Given the description of an element on the screen output the (x, y) to click on. 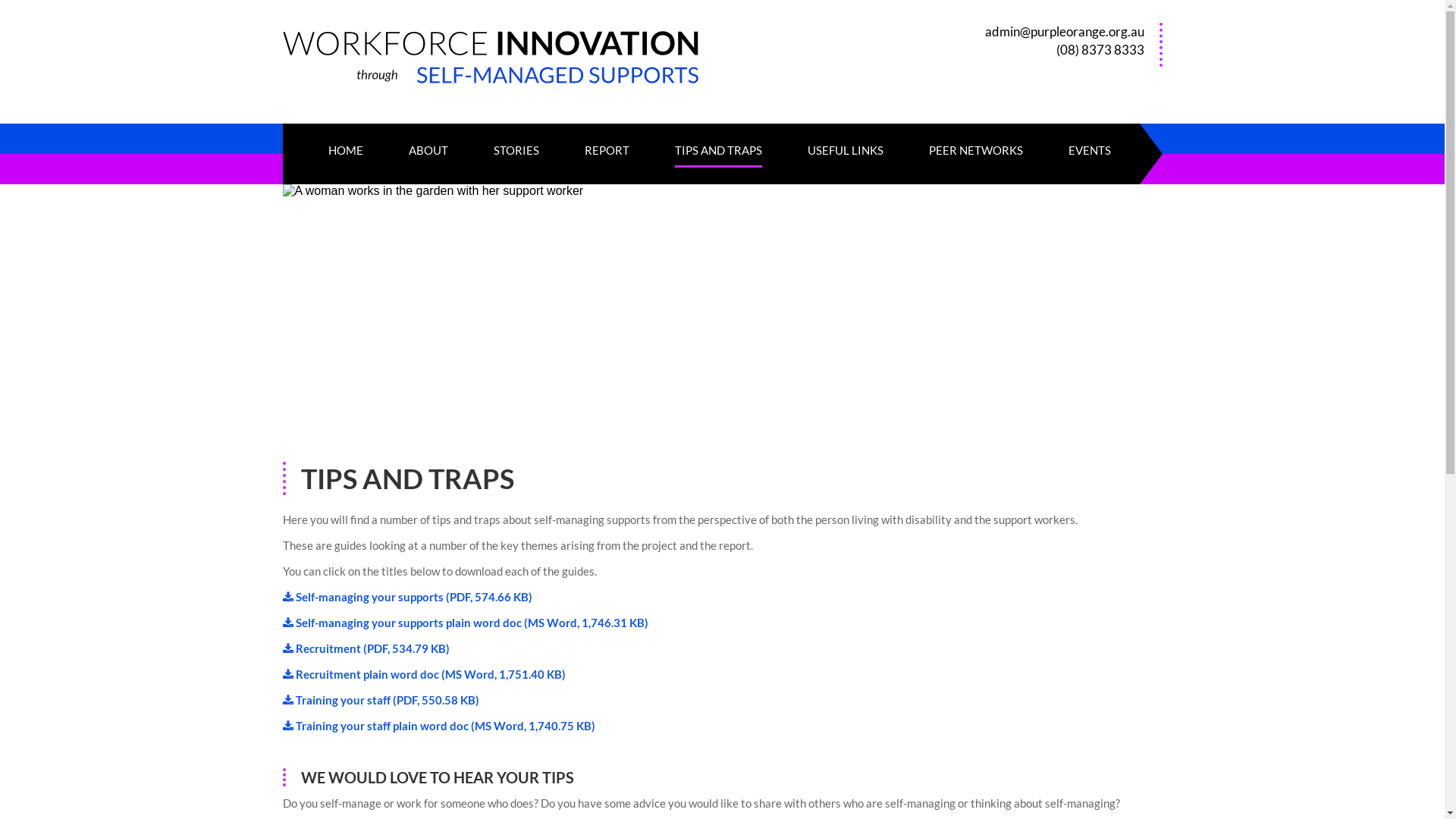
PEER NETWORKS Element type: text (975, 154)
Self-managing your supports (PDF, 574.66 KB) Element type: text (413, 596)
Recruitment (PDF, 534.79 KB) Element type: text (372, 648)
admin@purpleorange.org.au Element type: text (1063, 31)
Training your staff plain word doc (MS Word, 1,740.75 KB) Element type: text (445, 725)
REPORT Element type: text (605, 154)
ABOUT Element type: text (427, 154)
TIPS AND TRAPS Element type: text (718, 154)
Recruitment plain word doc (MS Word, 1,751.40 KB) Element type: text (430, 673)
Workforce Innovation Through Self-Managed Supports Project Element type: text (512, 68)
HOME Element type: text (344, 154)
STORIES Element type: text (515, 154)
EVENTS Element type: text (1088, 154)
Training your staff (PDF, 550.58 KB) Element type: text (387, 699)
USEFUL LINKS Element type: text (844, 154)
